Given the description of an element on the screen output the (x, y) to click on. 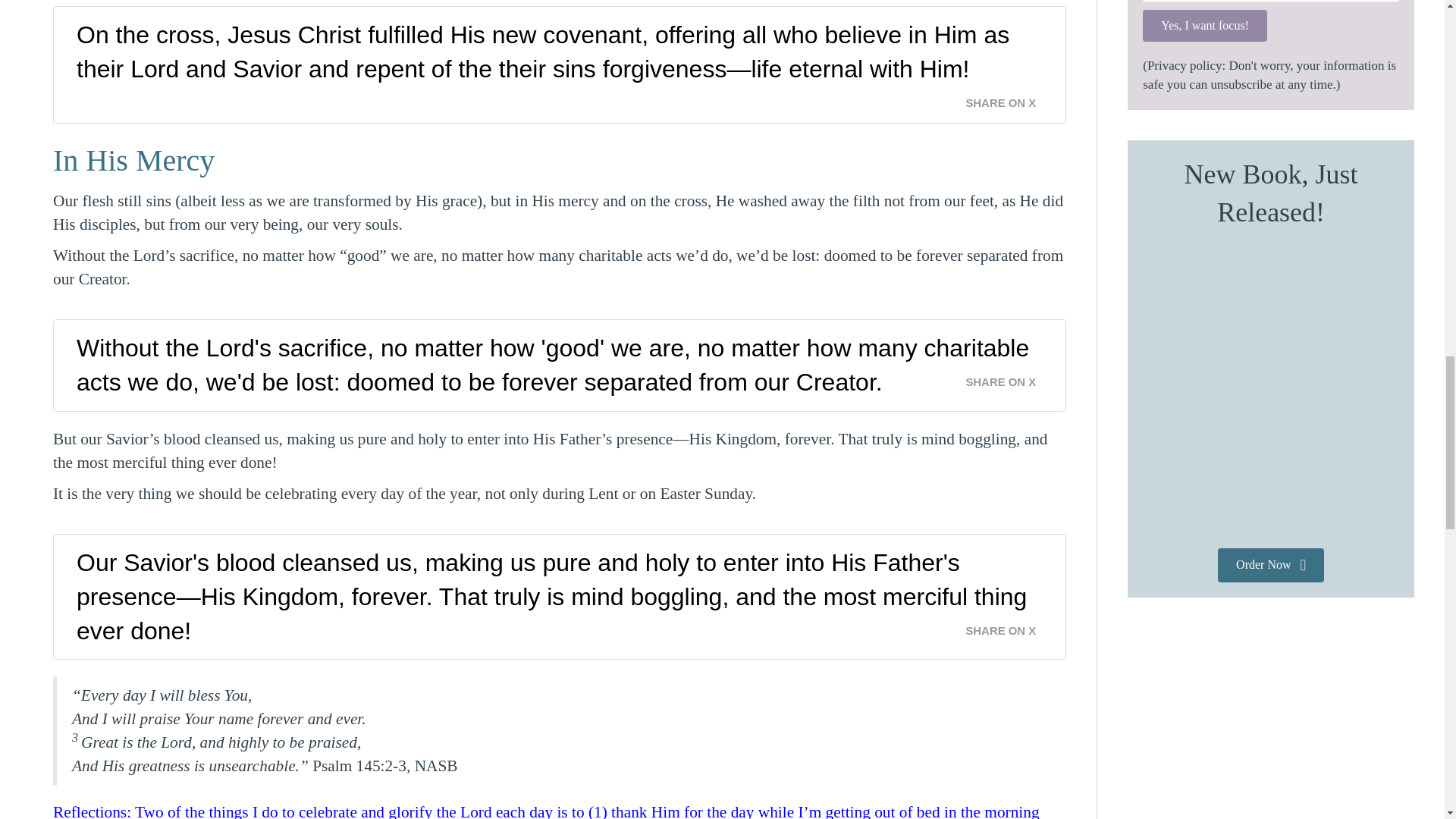
SHARE ON X (1009, 377)
SHARE ON X (1009, 98)
SHARE ON X (1009, 626)
